Given the description of an element on the screen output the (x, y) to click on. 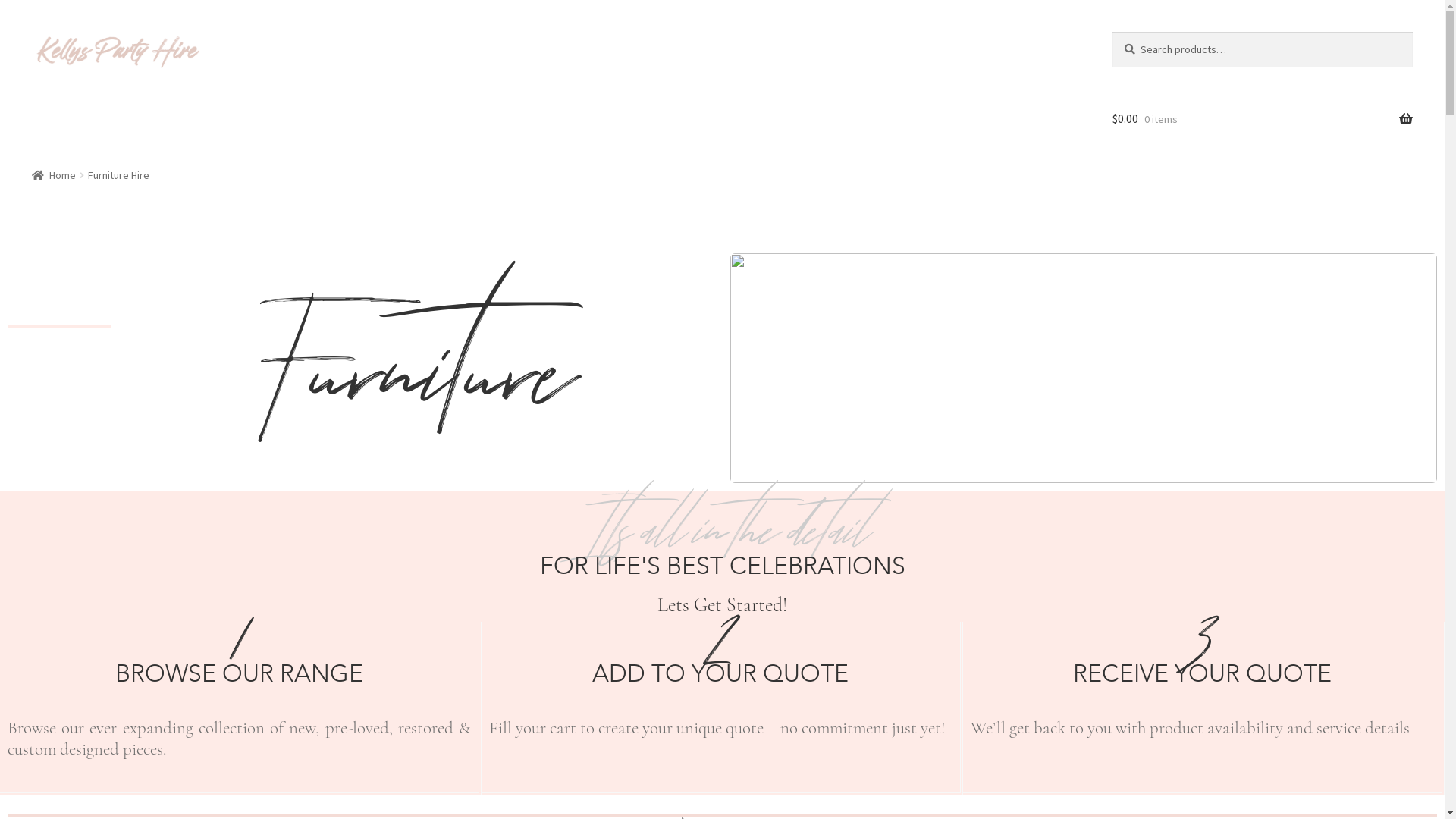
Search Element type: text (1111, 31)
Home Element type: text (53, 175)
$0.00 0 items Element type: text (1262, 119)
